Given the description of an element on the screen output the (x, y) to click on. 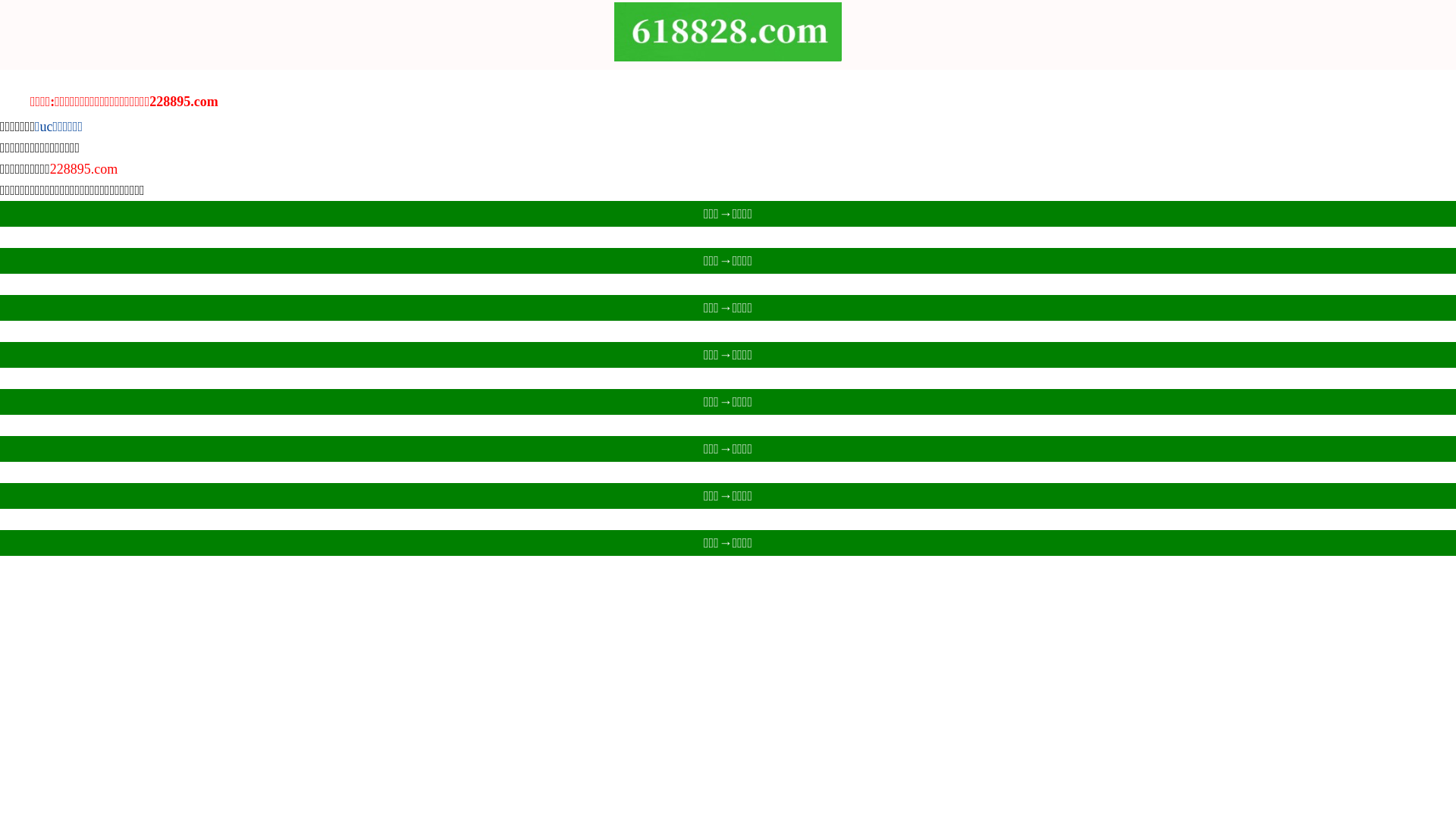
228895.com Element type: text (84, 168)
